Given the description of an element on the screen output the (x, y) to click on. 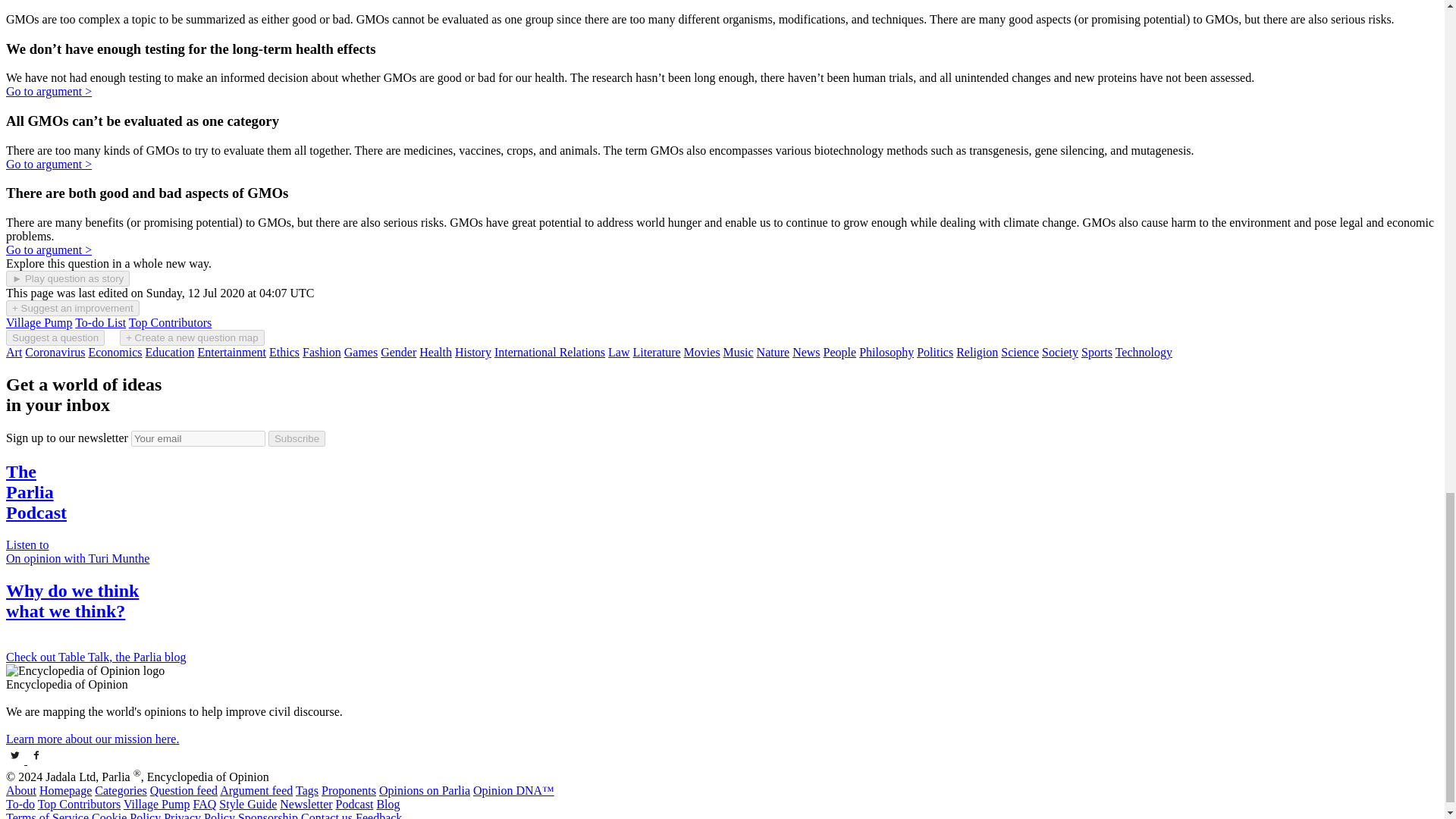
Category item (13, 351)
Category item (284, 351)
Category item (738, 351)
Category item (170, 351)
Category item (618, 351)
Category item (360, 351)
Category item (702, 351)
Category item (398, 351)
Category item (231, 351)
Category item (657, 351)
